Given the description of an element on the screen output the (x, y) to click on. 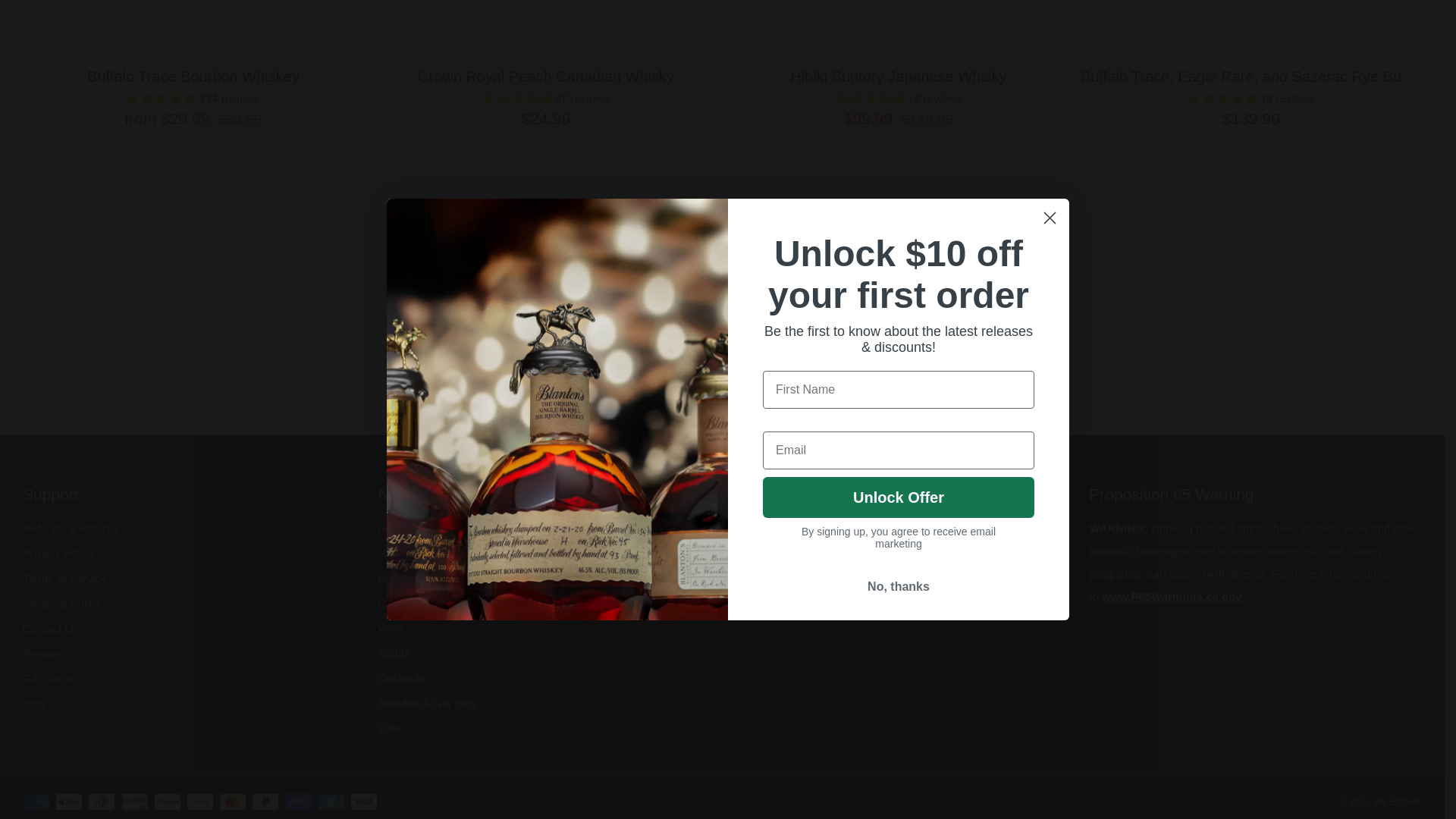
Meta Pay (167, 801)
Venmo (331, 801)
PayPal (265, 801)
Google Pay (200, 801)
Visa (363, 801)
Shop Pay (297, 801)
Discover (134, 801)
American Express (36, 801)
Apple Pay (68, 801)
Diners Club (101, 801)
Mastercard (232, 801)
